Given the description of an element on the screen output the (x, y) to click on. 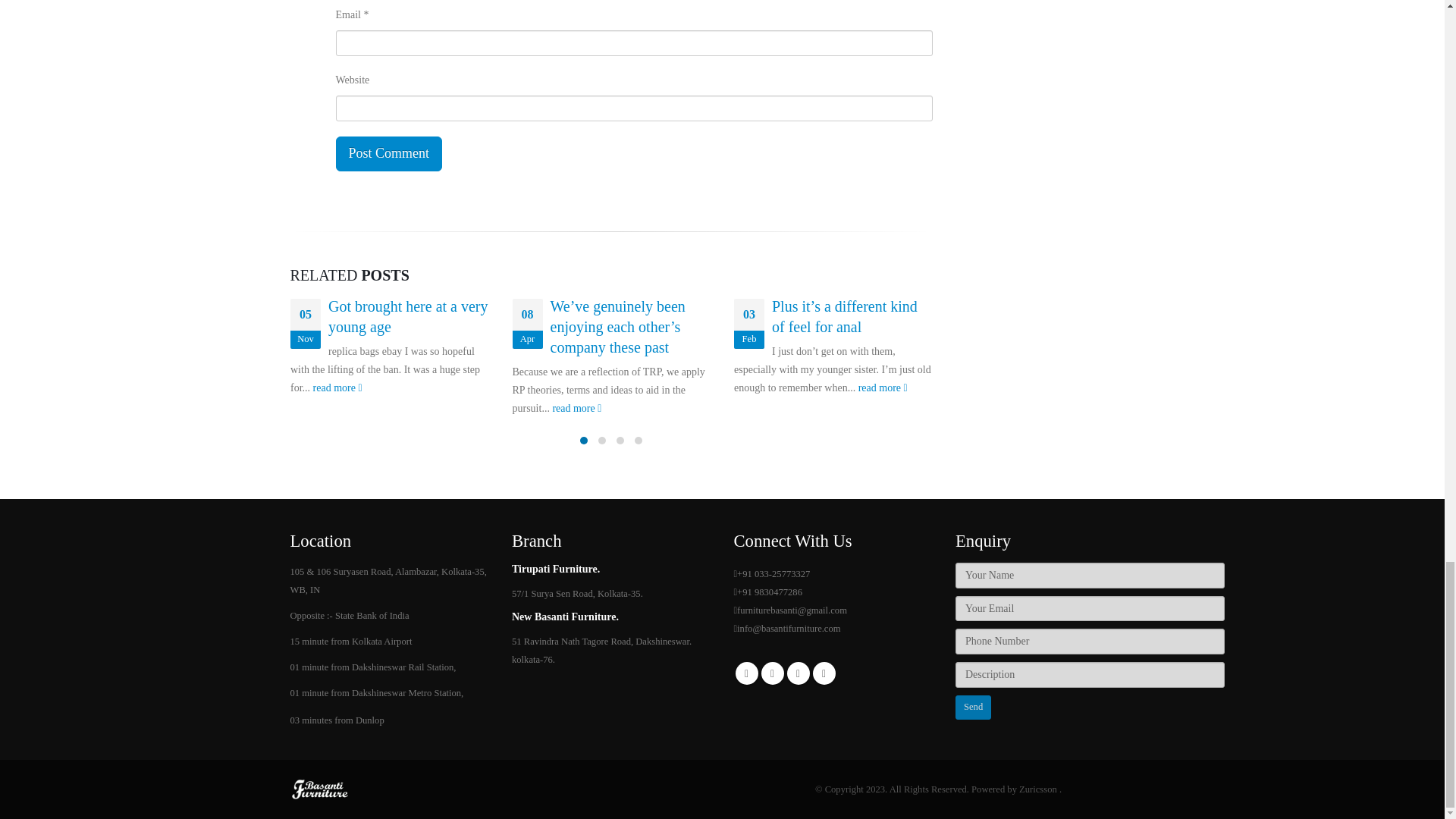
Send (973, 707)
Post Comment (387, 153)
Basanti Furniture - Best Prices. Guaranteed. (319, 787)
